Given the description of an element on the screen output the (x, y) to click on. 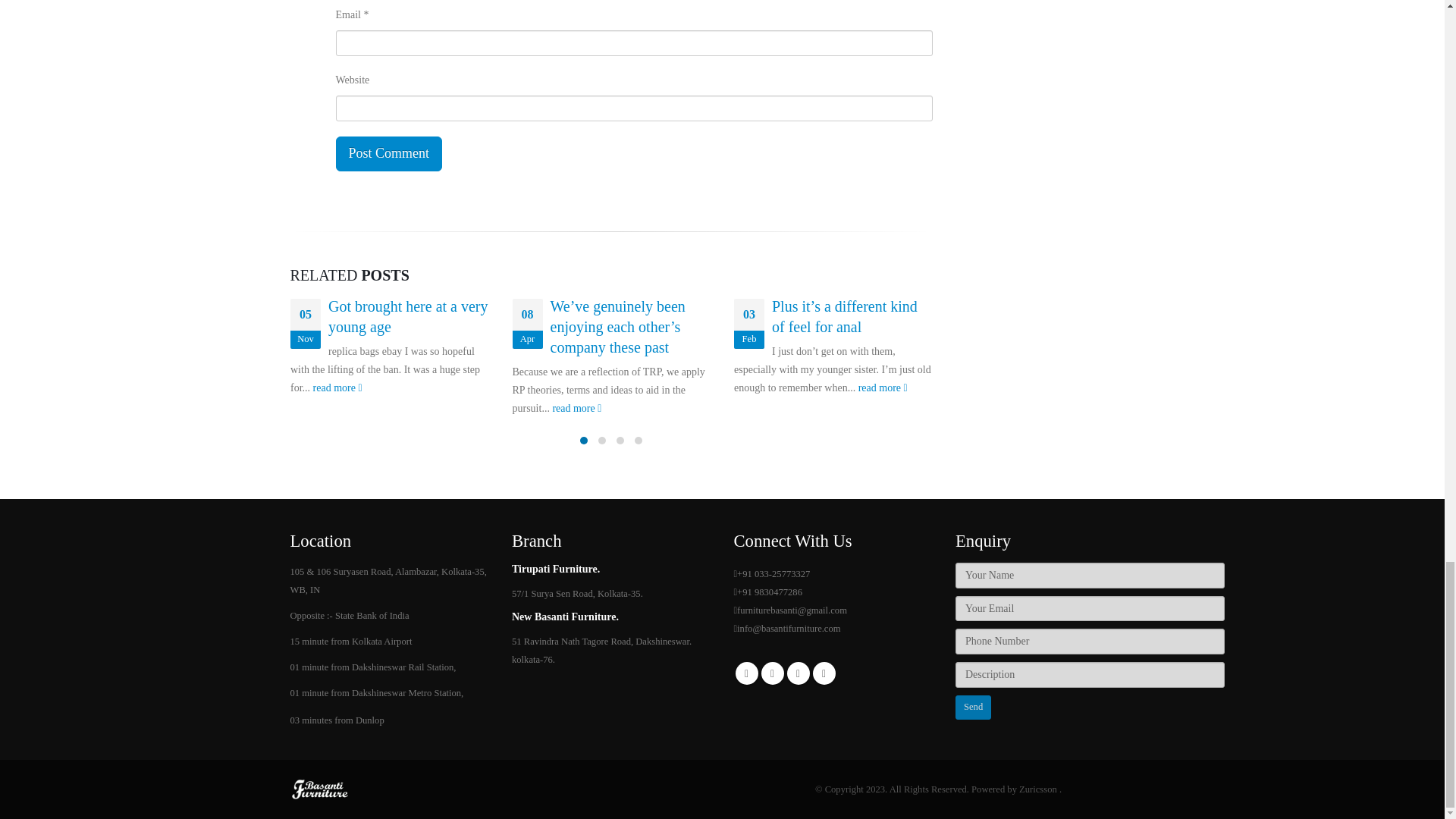
Send (973, 707)
Post Comment (387, 153)
Basanti Furniture - Best Prices. Guaranteed. (319, 787)
